Given the description of an element on the screen output the (x, y) to click on. 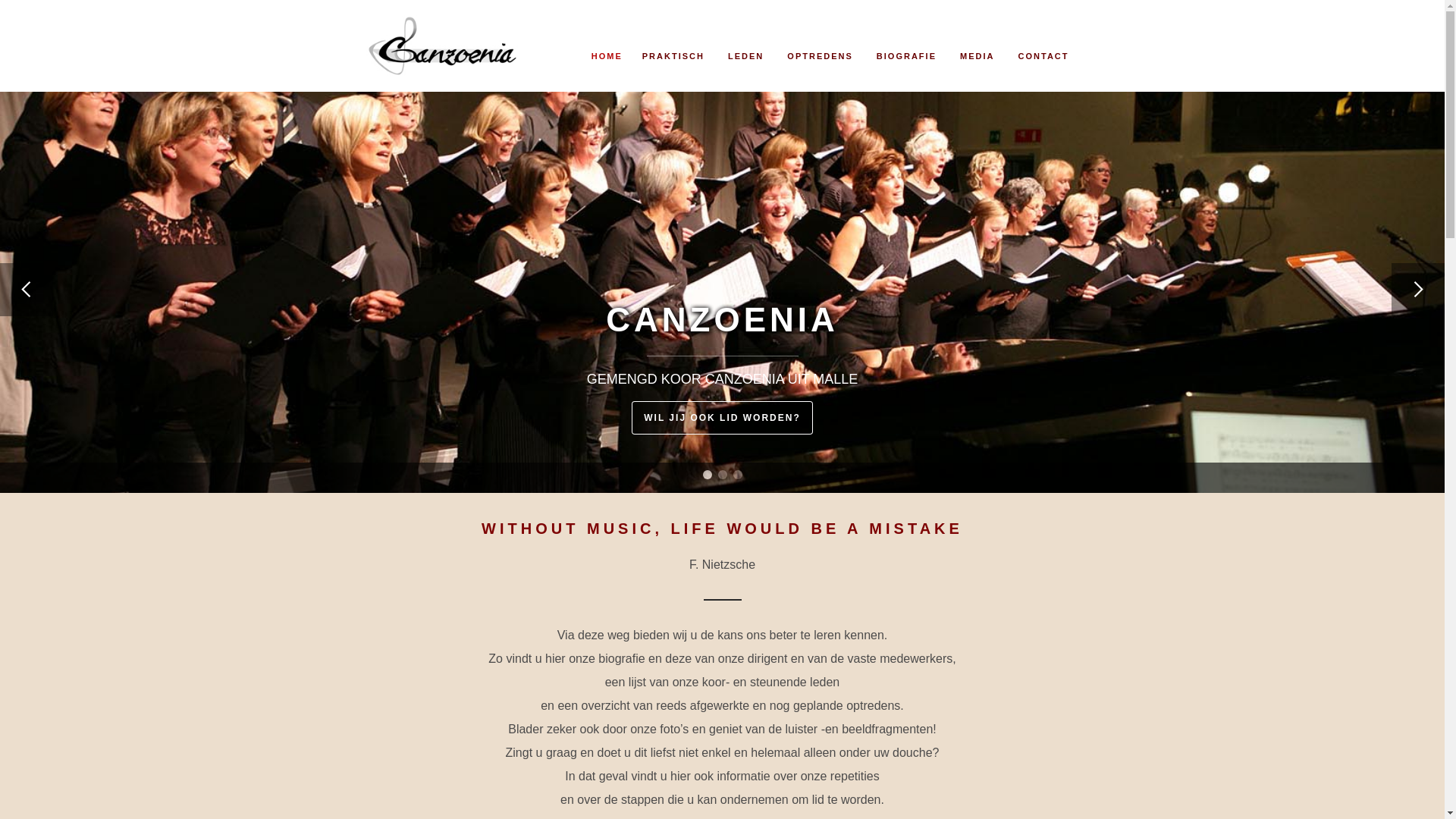
 CONTACT Element type: text (1041, 38)
 OPTREDENS Element type: text (817, 38)
HOME Element type: text (606, 38)
 BIOGRAFIE Element type: text (904, 38)
 MEDIA Element type: text (975, 38)
PRAKTISCH Element type: text (673, 38)
BEKIJK ONS FOTOBOEK Element type: text (721, 417)
 LEDEN Element type: text (743, 38)
